Given the description of an element on the screen output the (x, y) to click on. 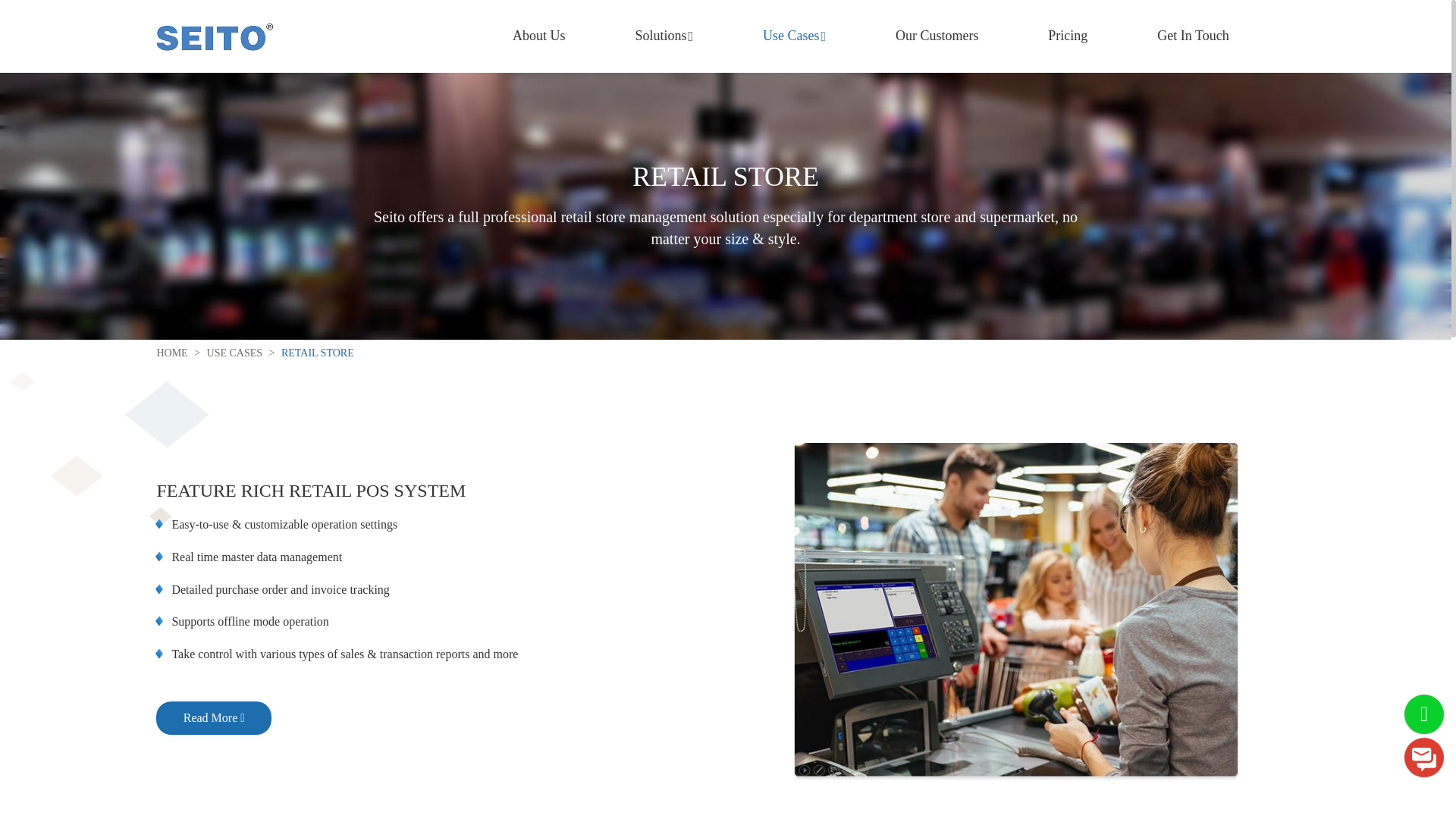
Home (171, 352)
Our Customers (936, 35)
Solutions (663, 35)
Retail Store (308, 352)
Use Cases (226, 352)
Get In Touch (1192, 35)
HOME (171, 352)
Use Cases (793, 35)
About Us (538, 35)
Pricing (1066, 35)
